Given the description of an element on the screen output the (x, y) to click on. 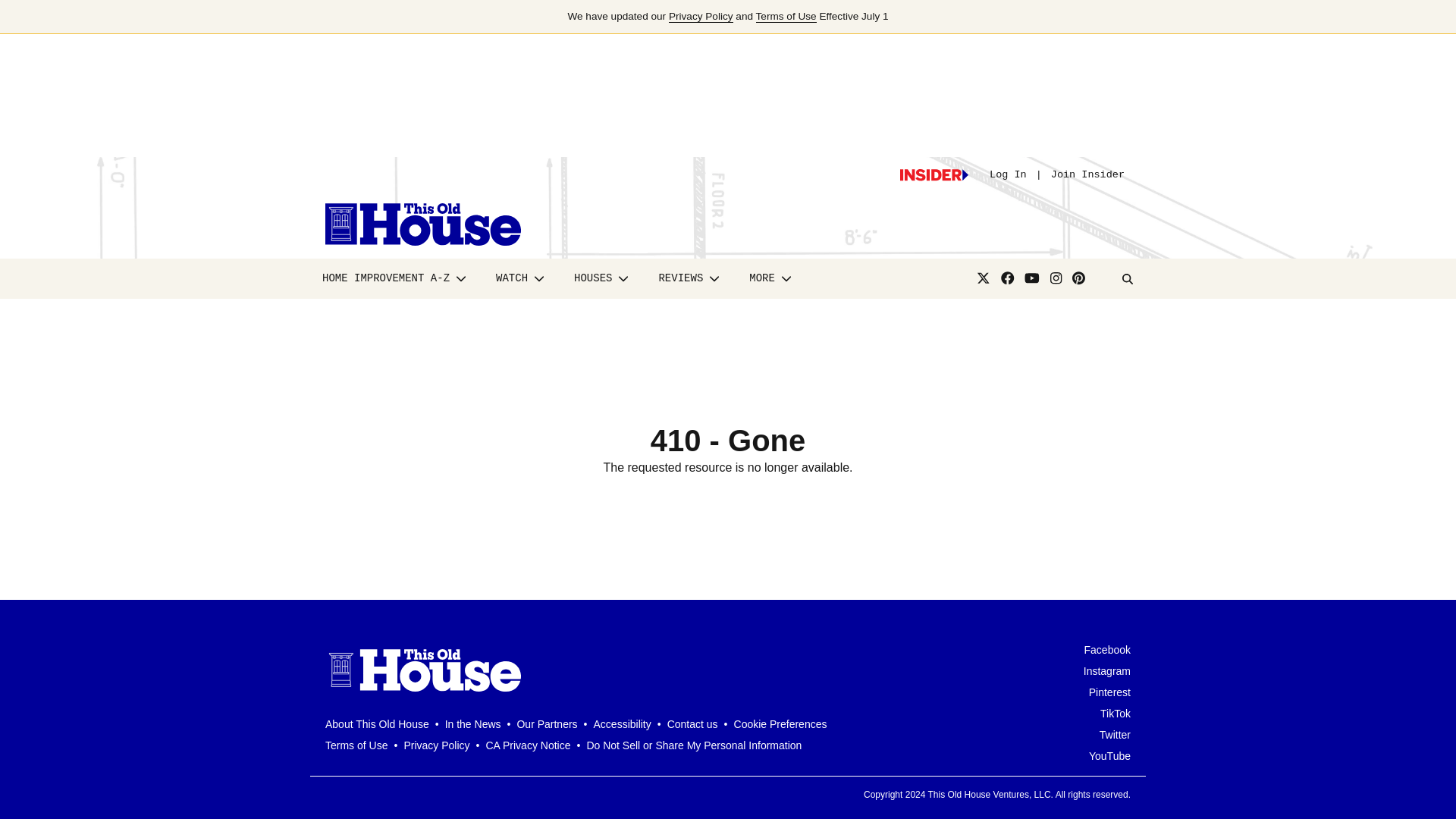
Log In (1008, 174)
Terms of Use (785, 16)
Privacy Policy (700, 16)
Join Insider (1087, 174)
Log in or sign up (933, 174)
